Given the description of an element on the screen output the (x, y) to click on. 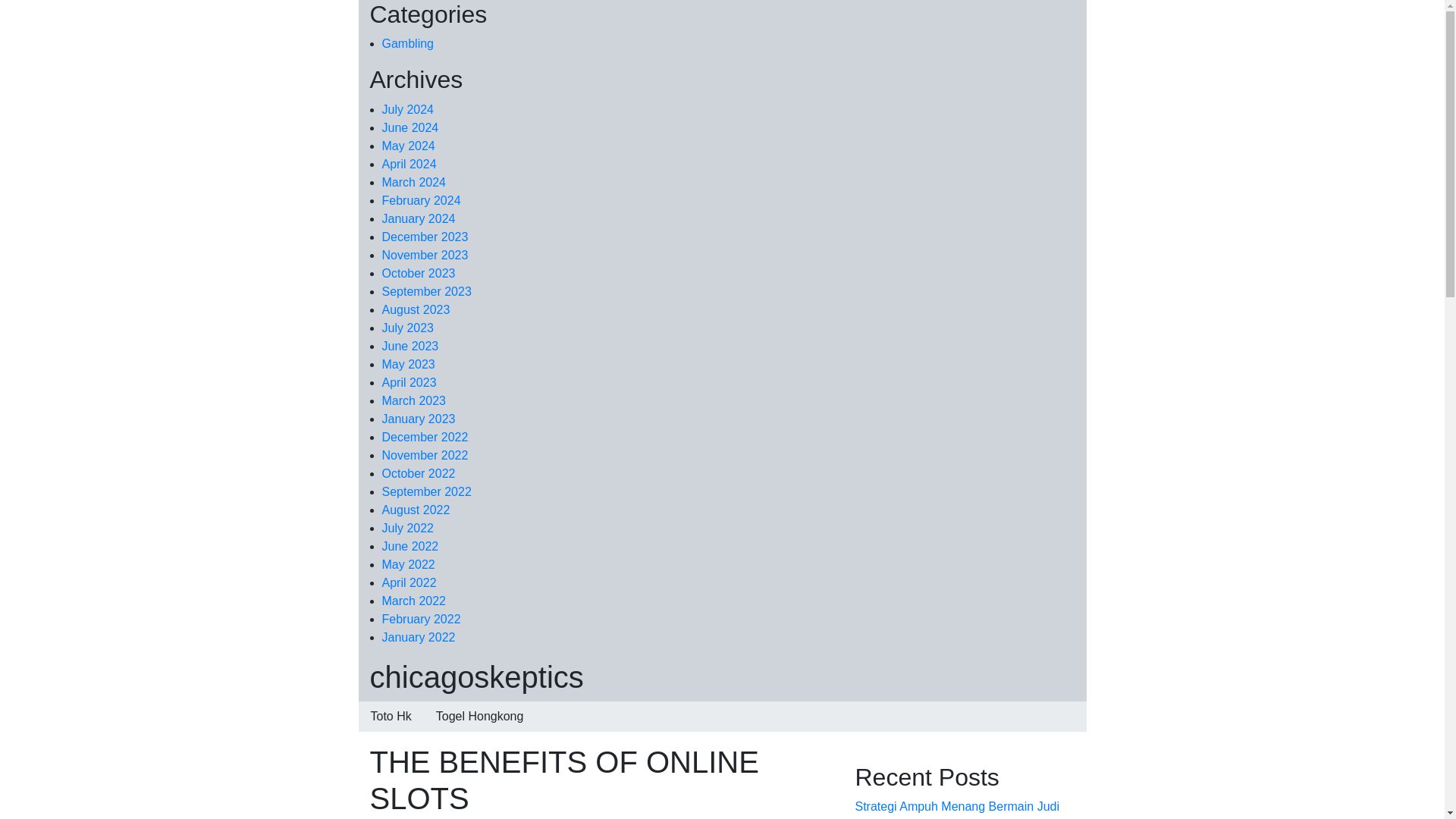
June 2022 (410, 545)
May 2022 (408, 563)
April 2024 (408, 164)
June 2024 (410, 127)
June 2023 (410, 345)
chicagoskeptics (476, 676)
January 2024 (418, 218)
October 2023 (418, 273)
January 2023 (418, 418)
January 2022 (418, 636)
August 2022 (415, 509)
July 2023 (407, 327)
December 2022 (424, 436)
February 2022 (421, 618)
July 2022 (407, 527)
